Given the description of an element on the screen output the (x, y) to click on. 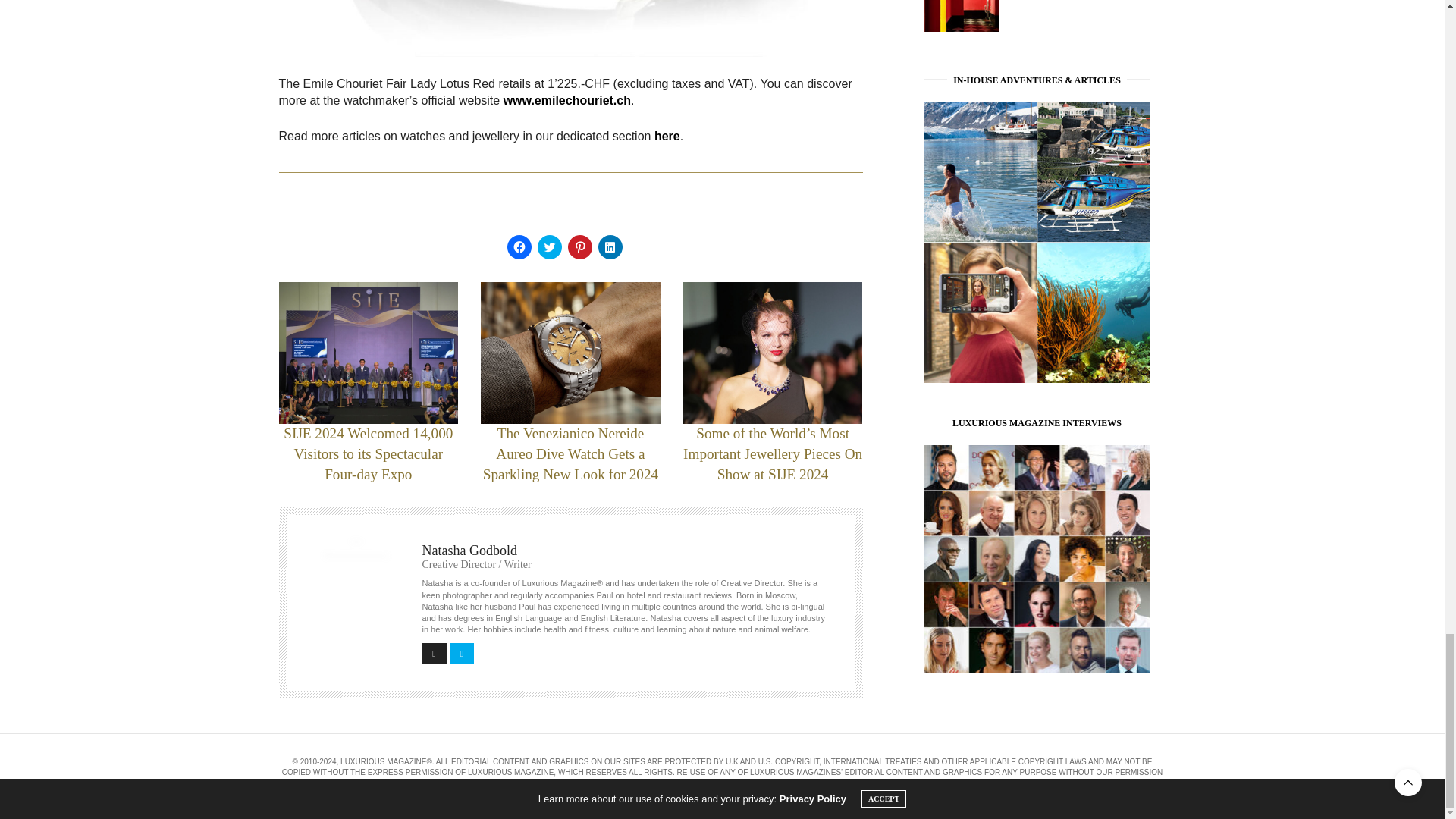
Click to share on Pinterest (579, 247)
Click to share on LinkedIn (608, 247)
Click to share on Twitter (548, 247)
Click to share on Facebook (518, 247)
